Given the description of an element on the screen output the (x, y) to click on. 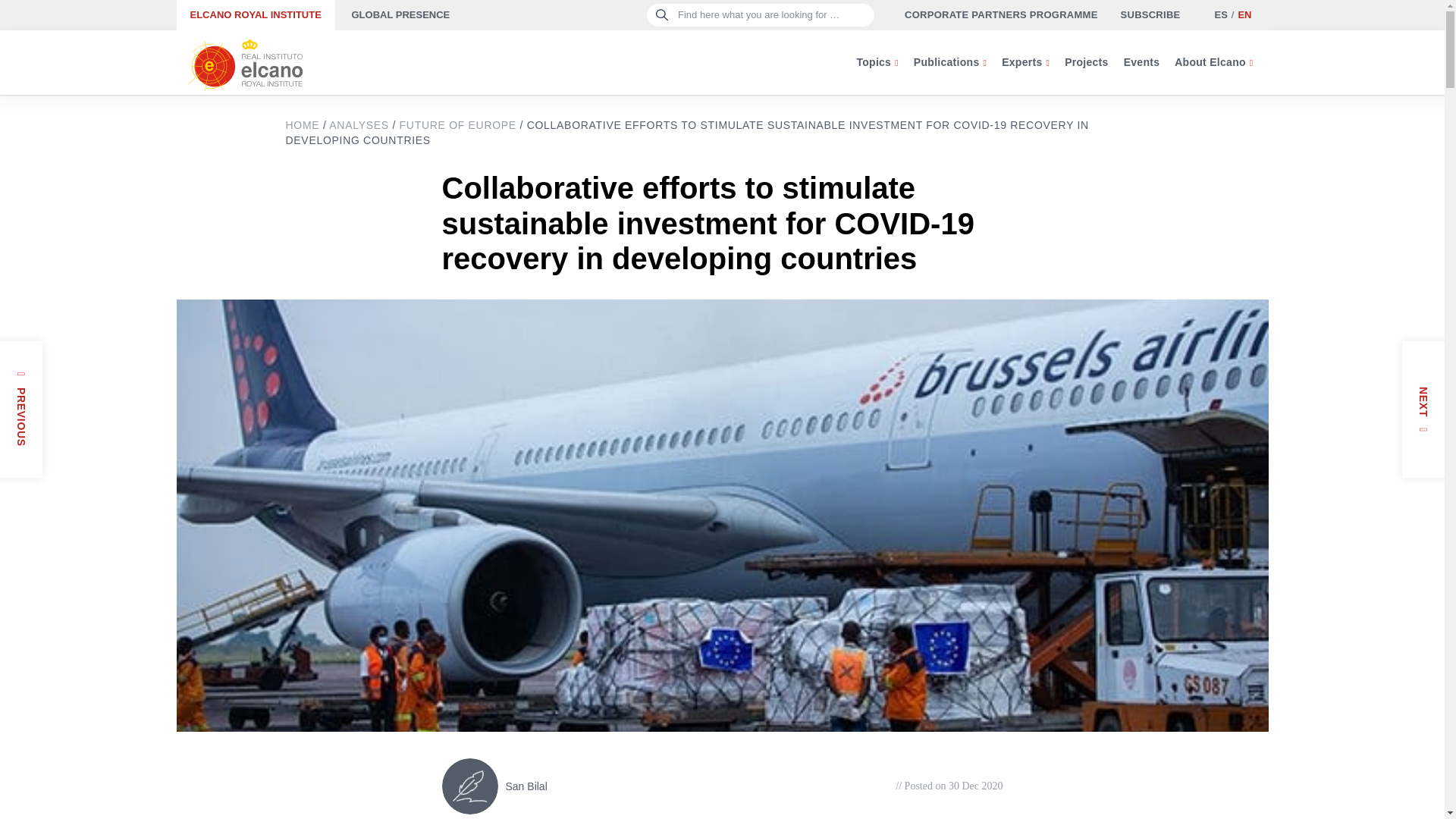
Posted on 30 Dec 2020 (949, 786)
Experts (1025, 61)
About Elcano (1213, 61)
Posted on 23 Dec 2020 (5, 449)
SUBSCRIBE (1150, 15)
CORPORATE PARTNERS PROGRAMME (1000, 15)
Search (39, 18)
ES (1219, 14)
Projects (1086, 61)
GLOBAL PRESENCE (400, 15)
Topics (876, 61)
EN (1244, 14)
Publications (949, 61)
